Given the description of an element on the screen output the (x, y) to click on. 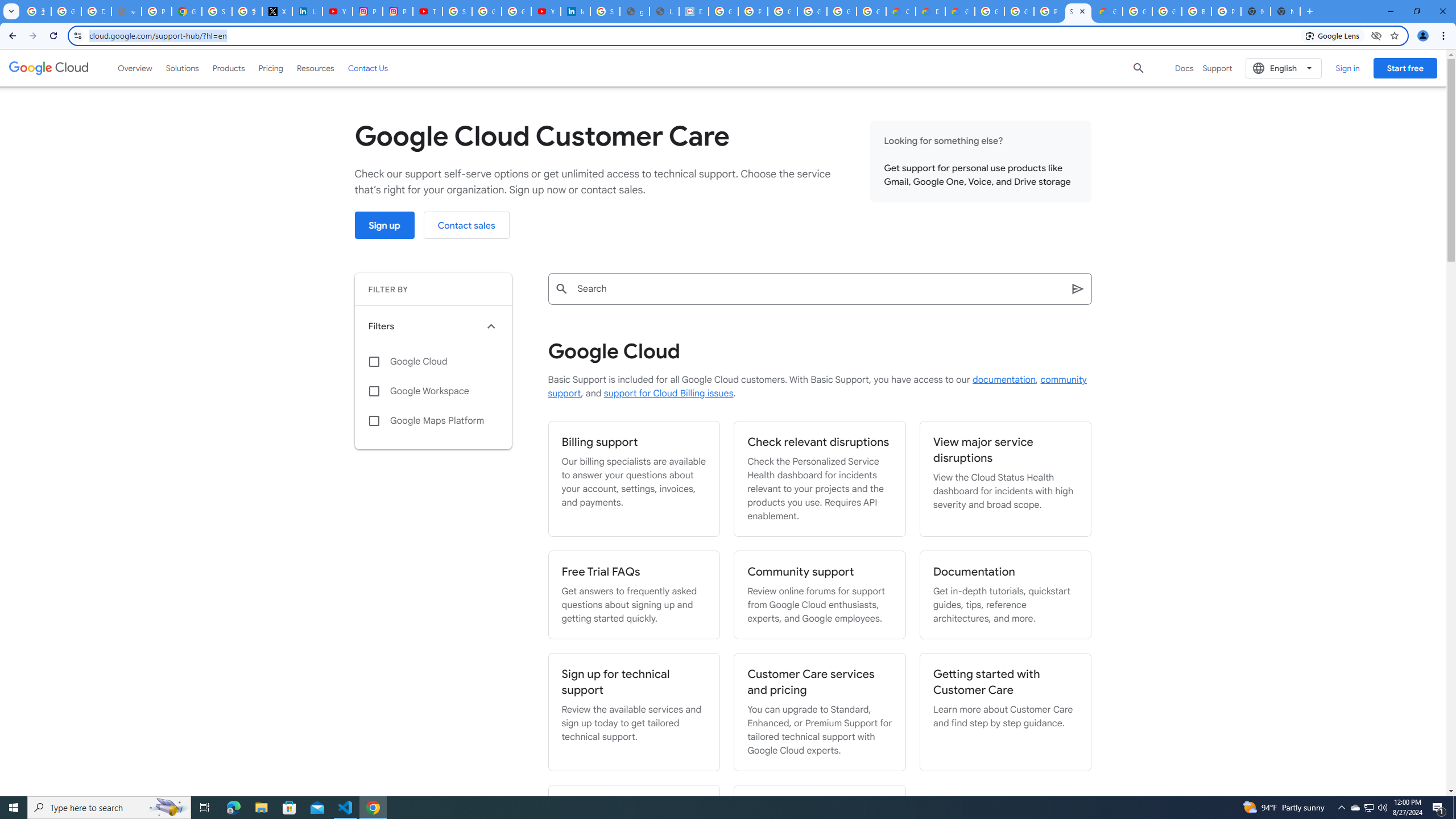
Google Workspace (432, 391)
New Tab (1284, 11)
Pricing (270, 67)
support.google.com - Network error (126, 11)
Sign in - Google Accounts (216, 11)
